Given the description of an element on the screen output the (x, y) to click on. 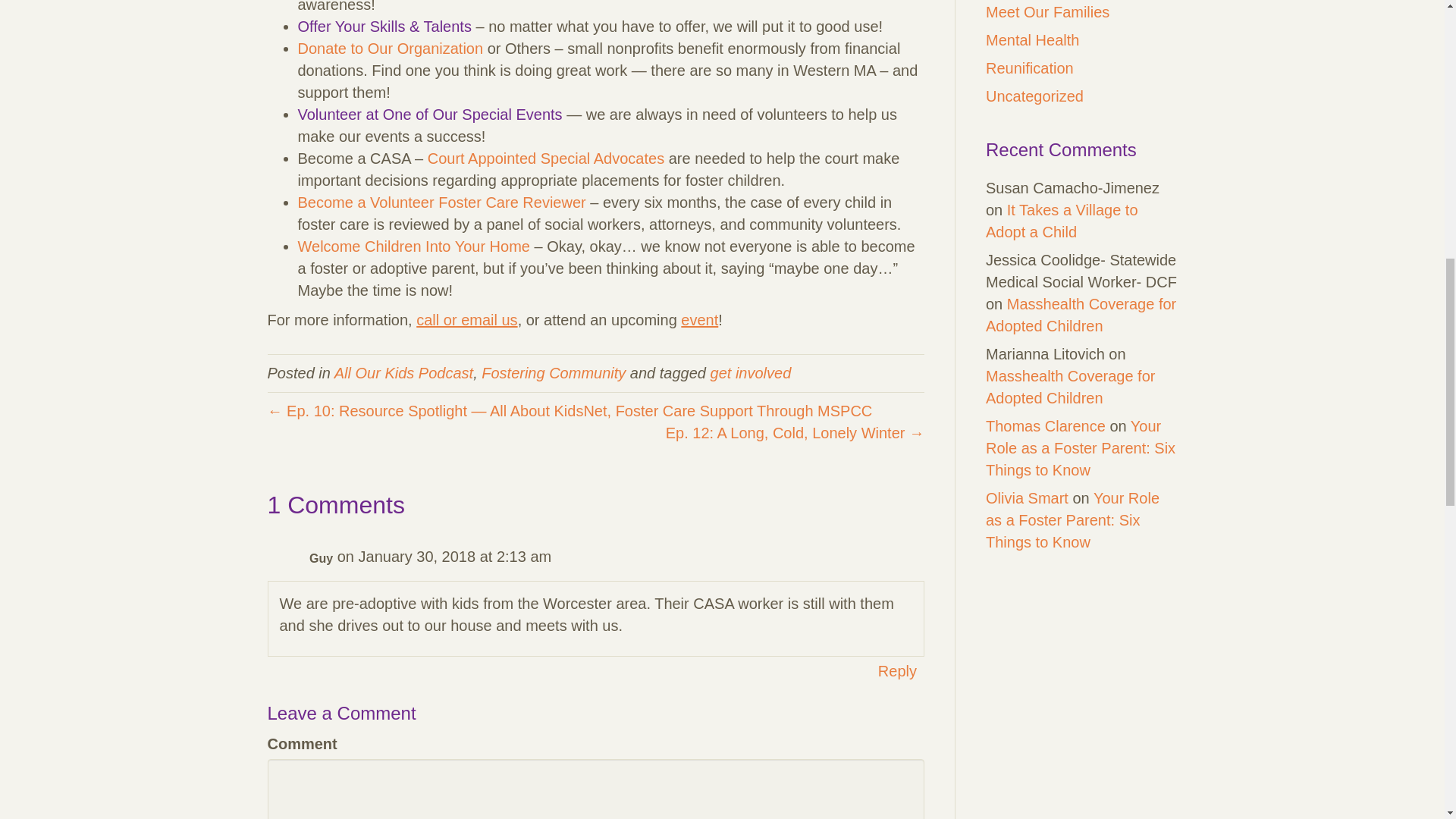
Volunteer at One of Our Special Events (429, 114)
Court Appointed Special Advocates (545, 158)
call or email us (466, 320)
Welcome Children Into Your Home (413, 246)
Donate to Our Organization (390, 48)
Become a Volunteer Foster Care Reviewe (438, 202)
